Given the description of an element on the screen output the (x, y) to click on. 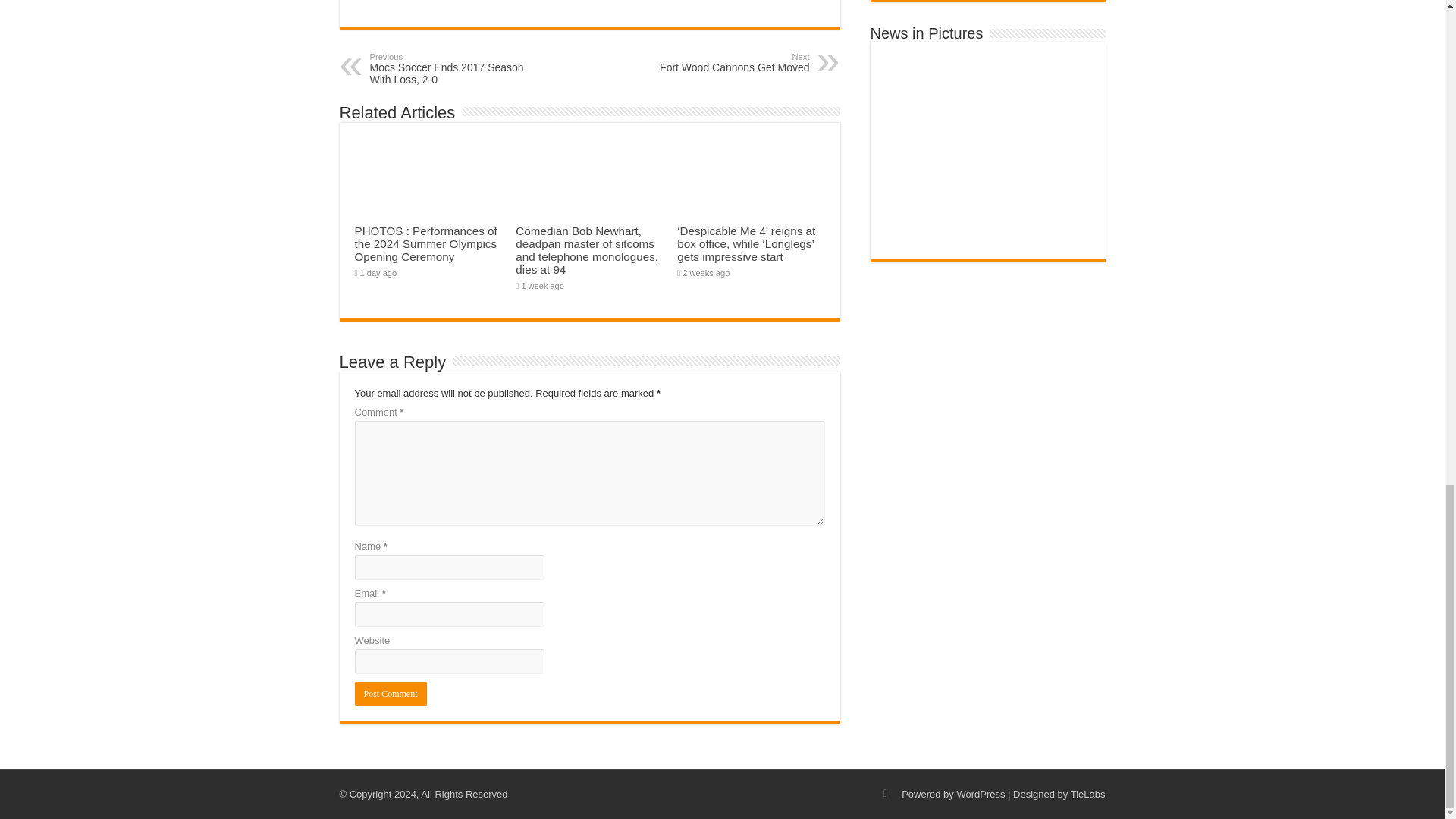
Post Comment (390, 693)
